Given the description of an element on the screen output the (x, y) to click on. 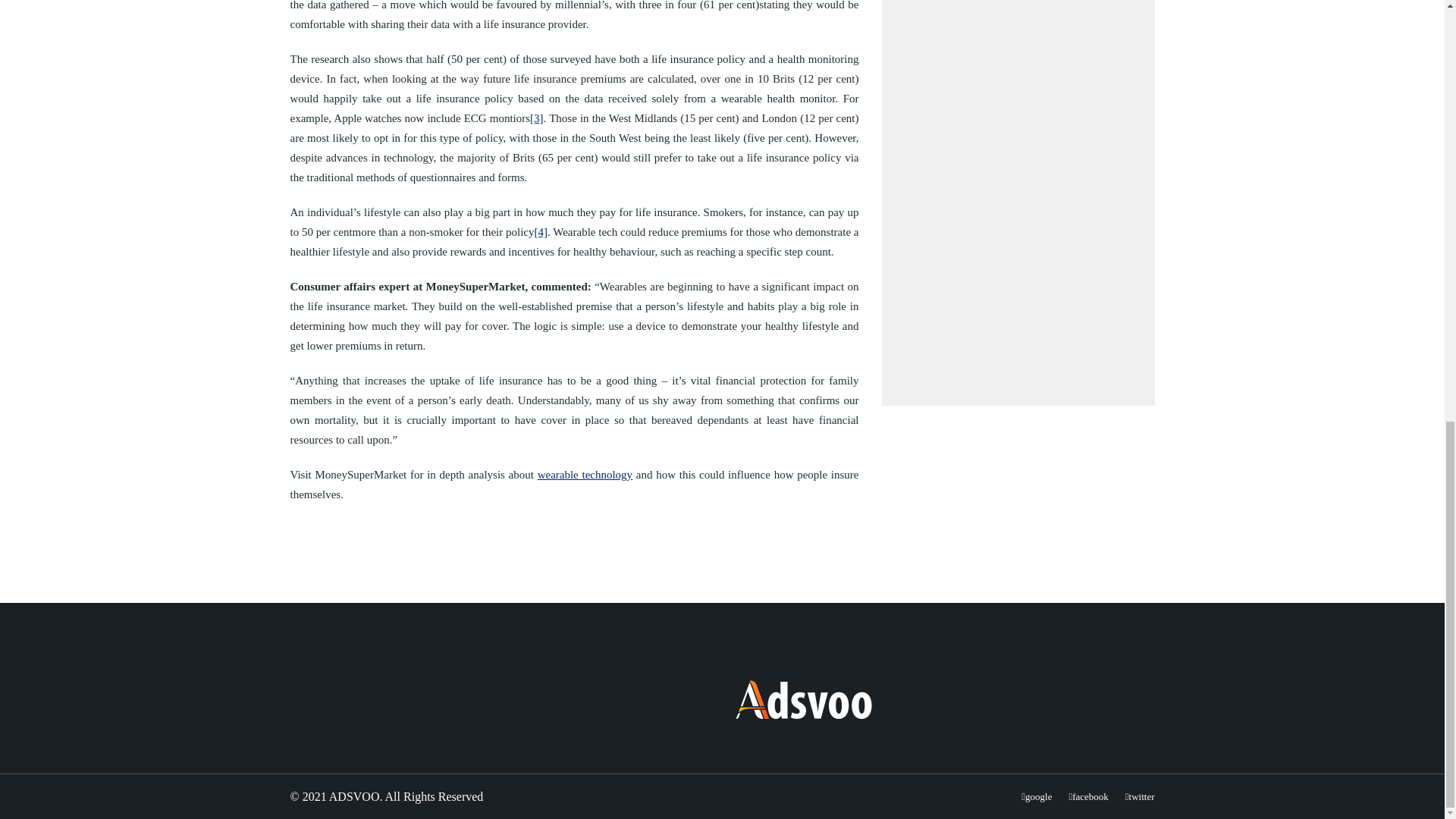
Advertisement (1018, 191)
